Given the description of an element on the screen output the (x, y) to click on. 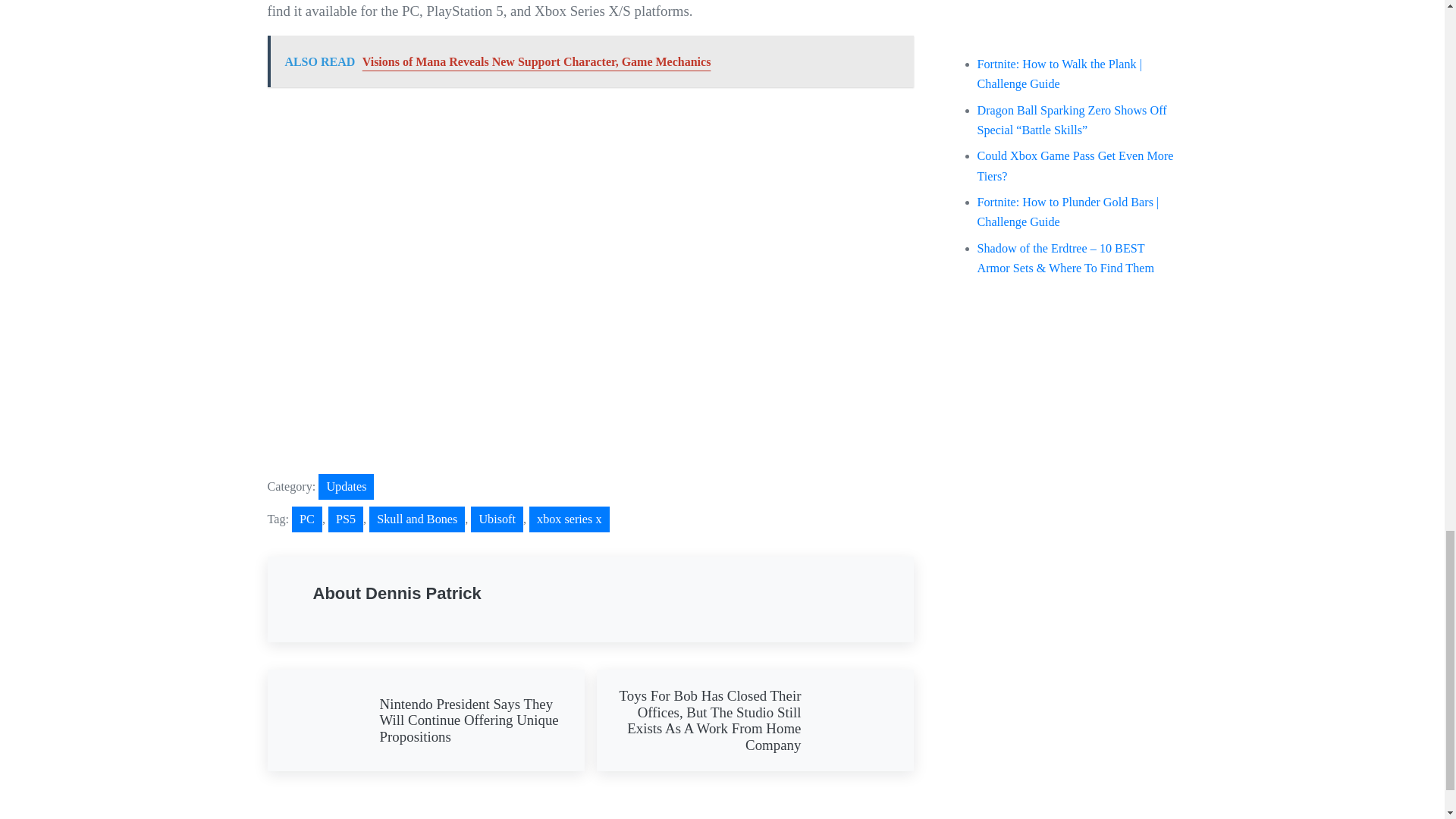
xbox series x (568, 519)
Ubisoft (496, 519)
Updates (346, 486)
PS5 (345, 519)
PC (306, 519)
Skull and Bones (416, 519)
